Given the description of an element on the screen output the (x, y) to click on. 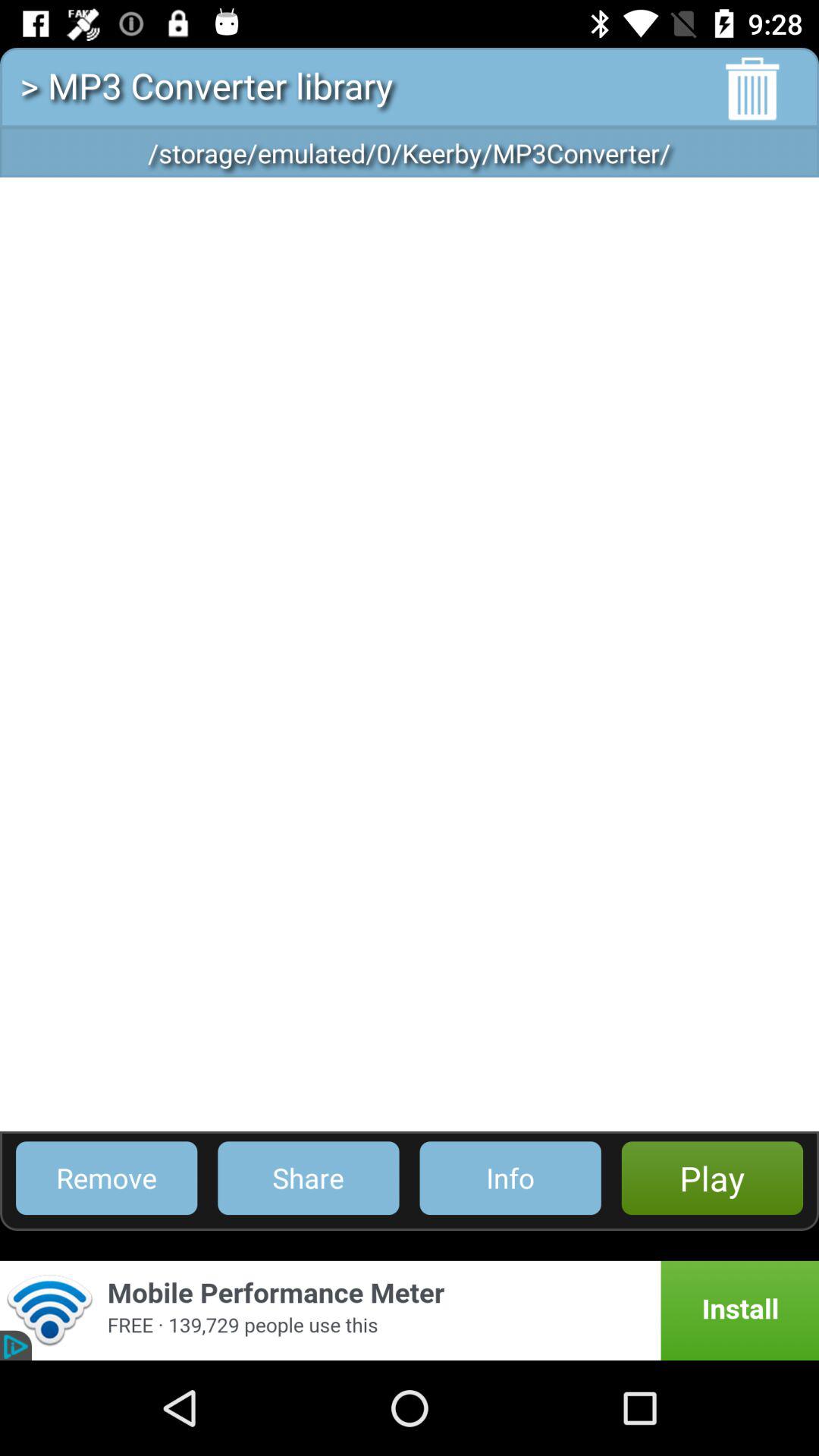
open icon at the center (409, 654)
